Given the description of an element on the screen output the (x, y) to click on. 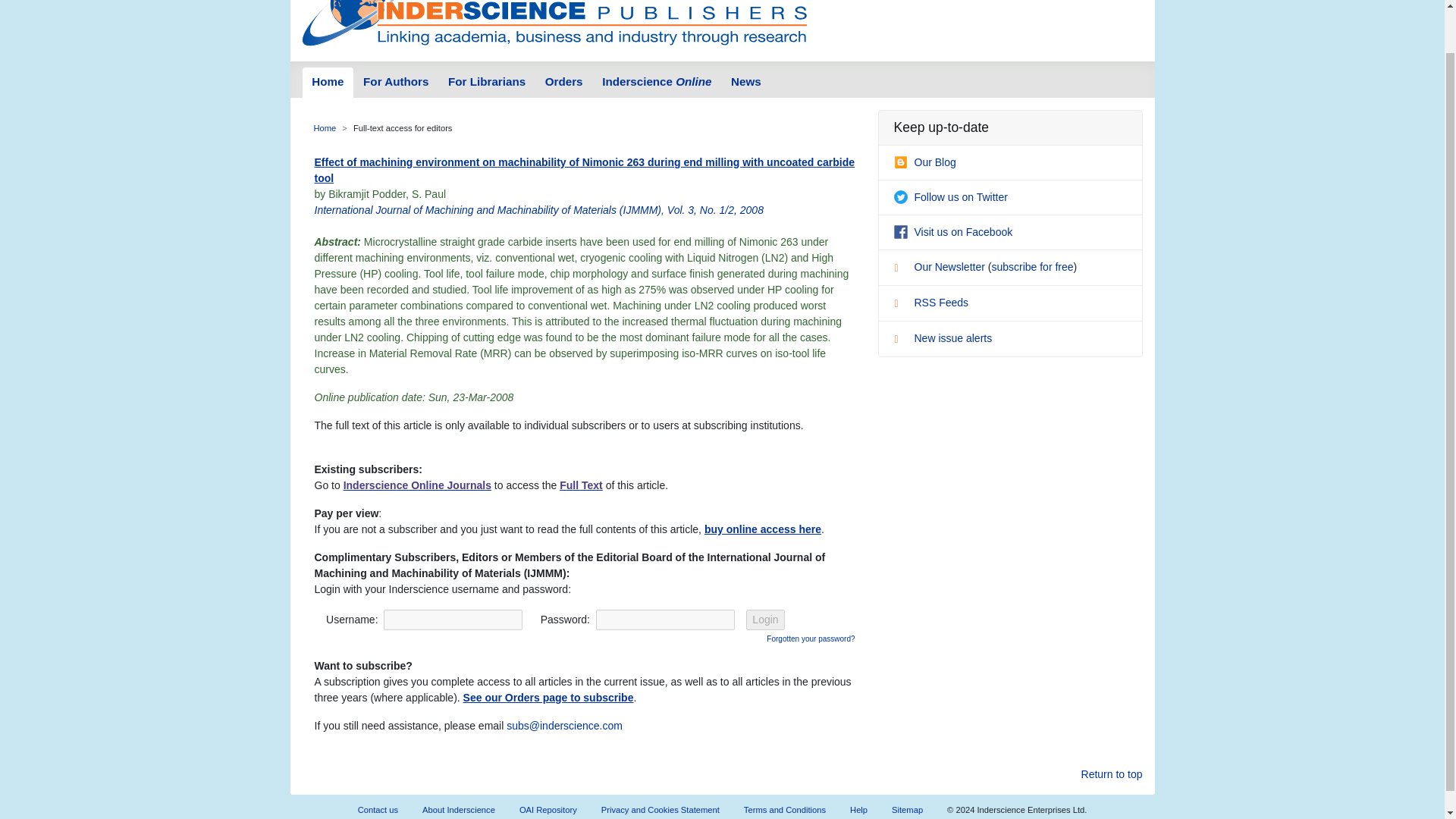
Full Text (580, 485)
buy online access here (762, 529)
Home (327, 82)
list (901, 269)
Our Newsletter (940, 266)
RSS Feeds (930, 302)
RSS (901, 305)
Our Blog (924, 162)
Inderscience Publishers - return to the homepage (553, 24)
Orders (563, 82)
